Given the description of an element on the screen output the (x, y) to click on. 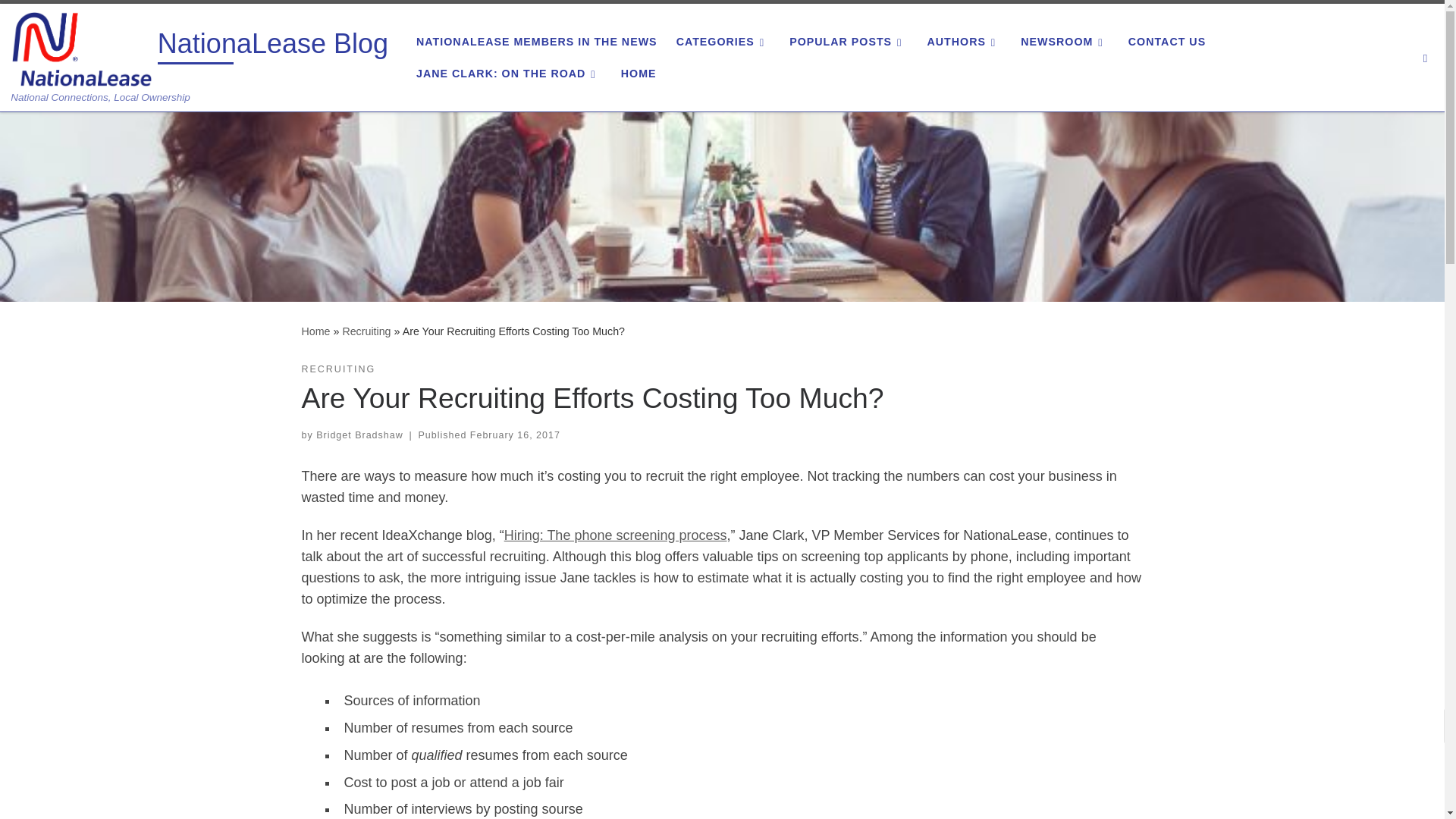
NATIONALEASE MEMBERS IN THE NEWS (537, 41)
Recruiting (366, 331)
NationaLease Blog (315, 331)
POPULAR POSTS (848, 41)
CATEGORIES (722, 41)
View all posts by Bridget Bradshaw (359, 434)
11:21 AM (515, 434)
Skip to content (60, 20)
AUTHORS (963, 41)
JANE CLARK: ON THE ROAD (509, 73)
CONTACT US (1167, 41)
NEWSROOM (1064, 41)
NationaLease Blog (272, 47)
View all posts in Recruiting (338, 369)
